Given the description of an element on the screen output the (x, y) to click on. 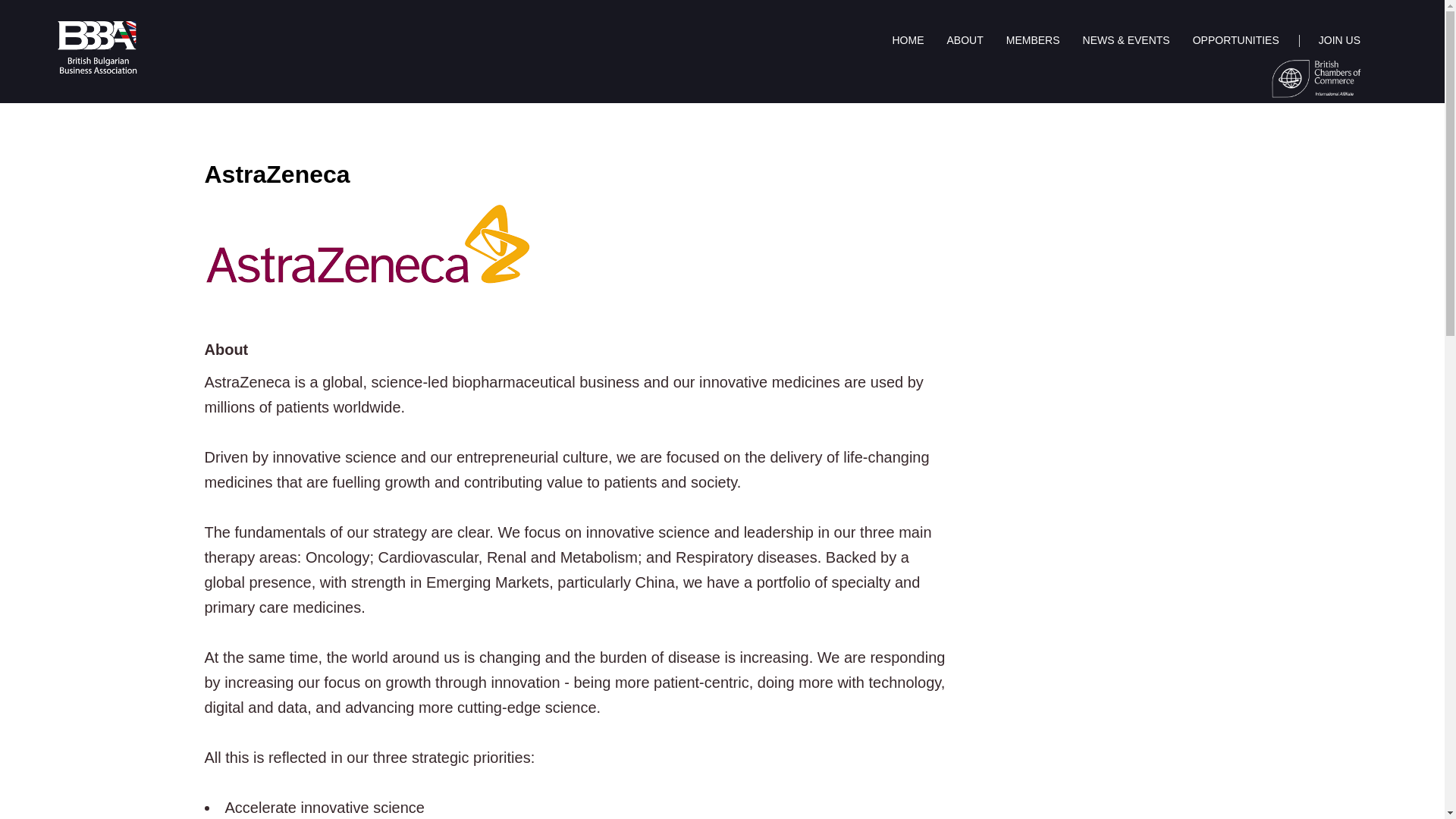
HOME (908, 39)
OPPORTUNITIES (1235, 39)
MEMBERS (1032, 39)
JOIN US (1339, 39)
ABOUT (965, 39)
